Given the description of an element on the screen output the (x, y) to click on. 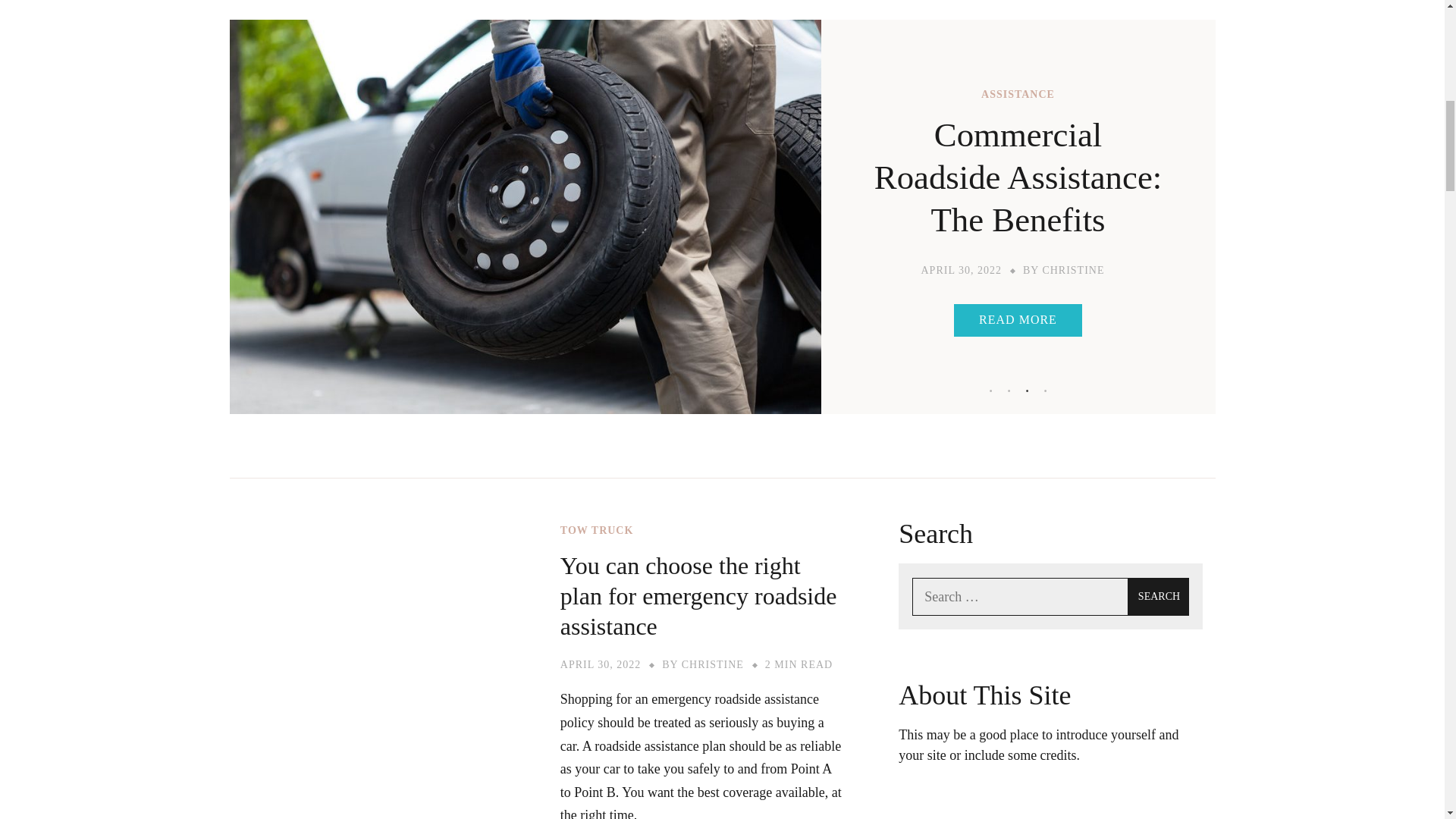
Commercial Roadside Assistance: The Benefits (1018, 177)
APRIL 30, 2022 (960, 270)
Search (1158, 596)
Search (1158, 596)
READ MORE (1017, 320)
CHRISTINE (1072, 270)
ASSISTANCE (1018, 94)
